Given the description of an element on the screen output the (x, y) to click on. 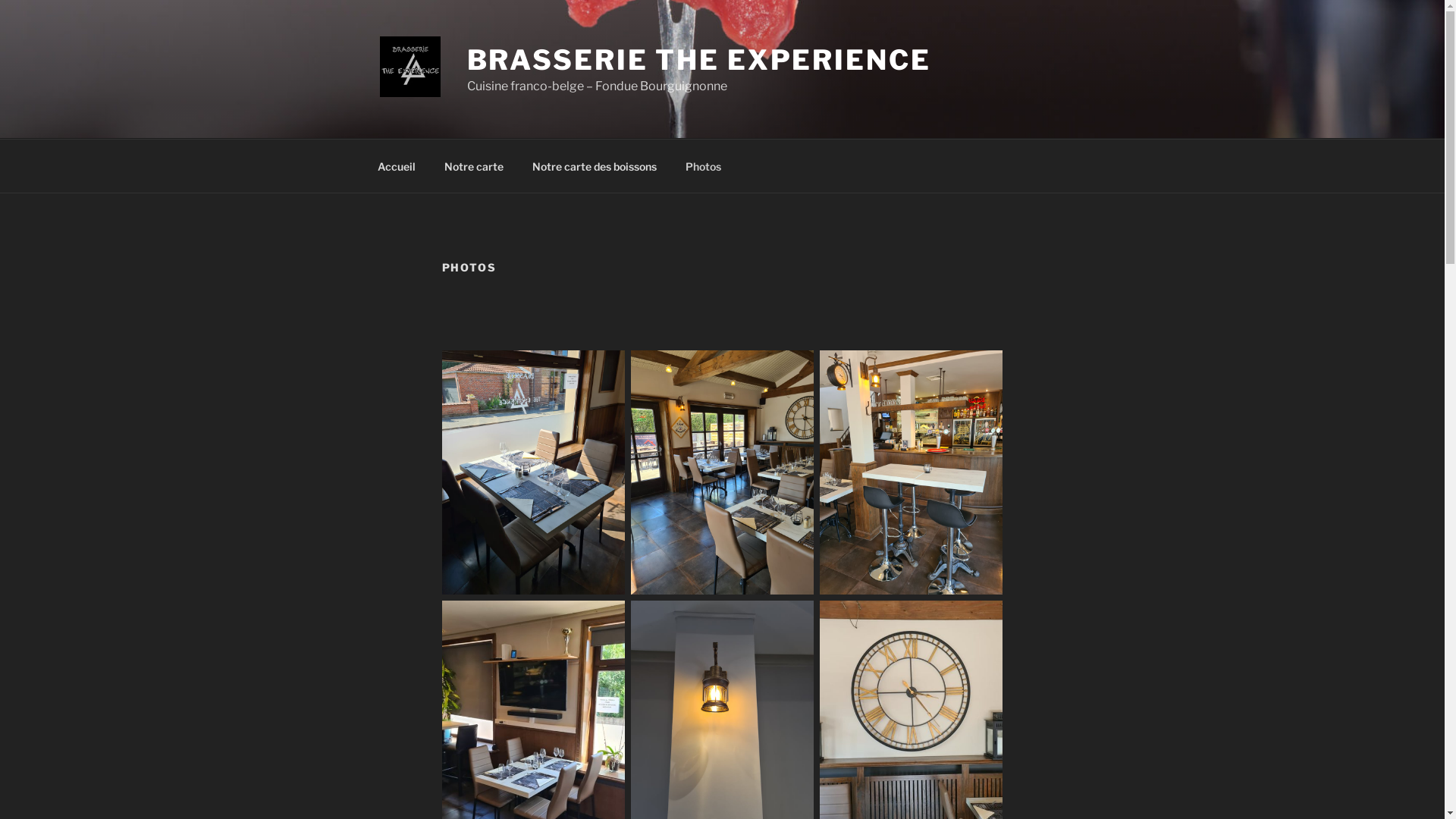
Accueil Element type: text (396, 165)
Photos Element type: text (702, 165)
Notre carte Element type: text (473, 165)
BRASSERIE THE EXPERIENCE Element type: text (699, 59)
Notre carte des boissons Element type: text (593, 165)
